Given the description of an element on the screen output the (x, y) to click on. 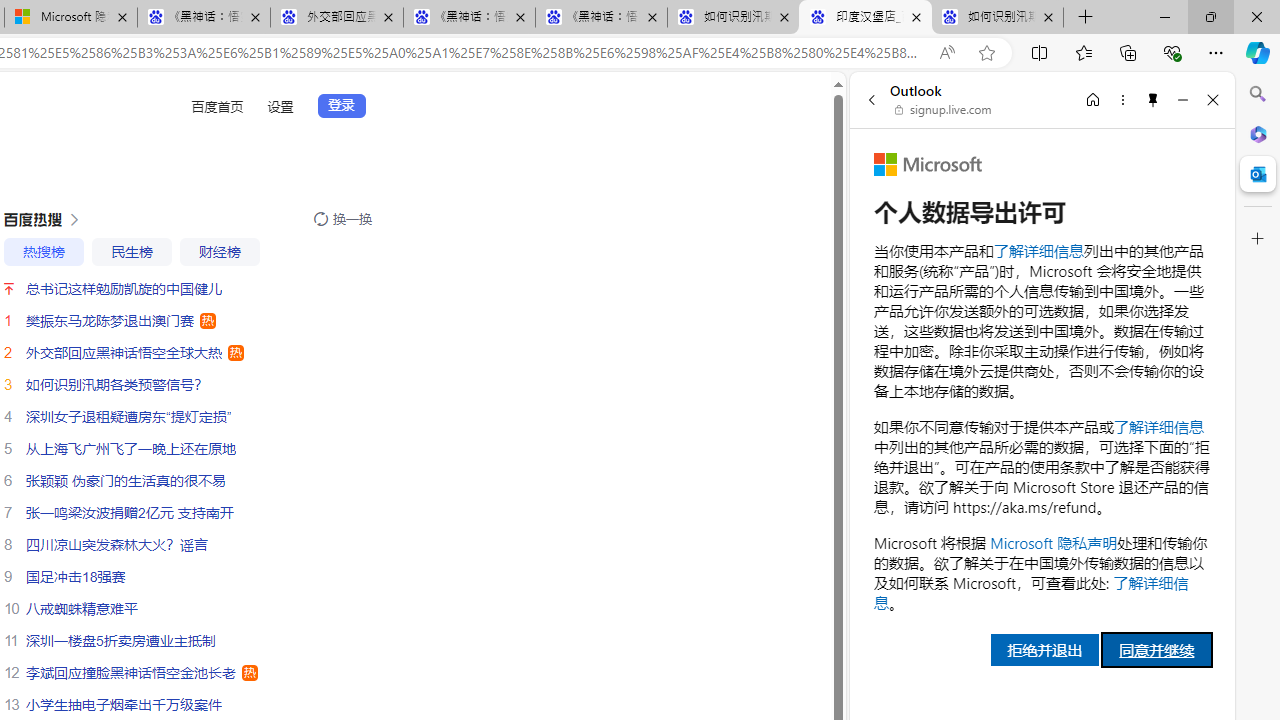
signup.live.com (943, 110)
Microsoft (927, 164)
